Given the description of an element on the screen output the (x, y) to click on. 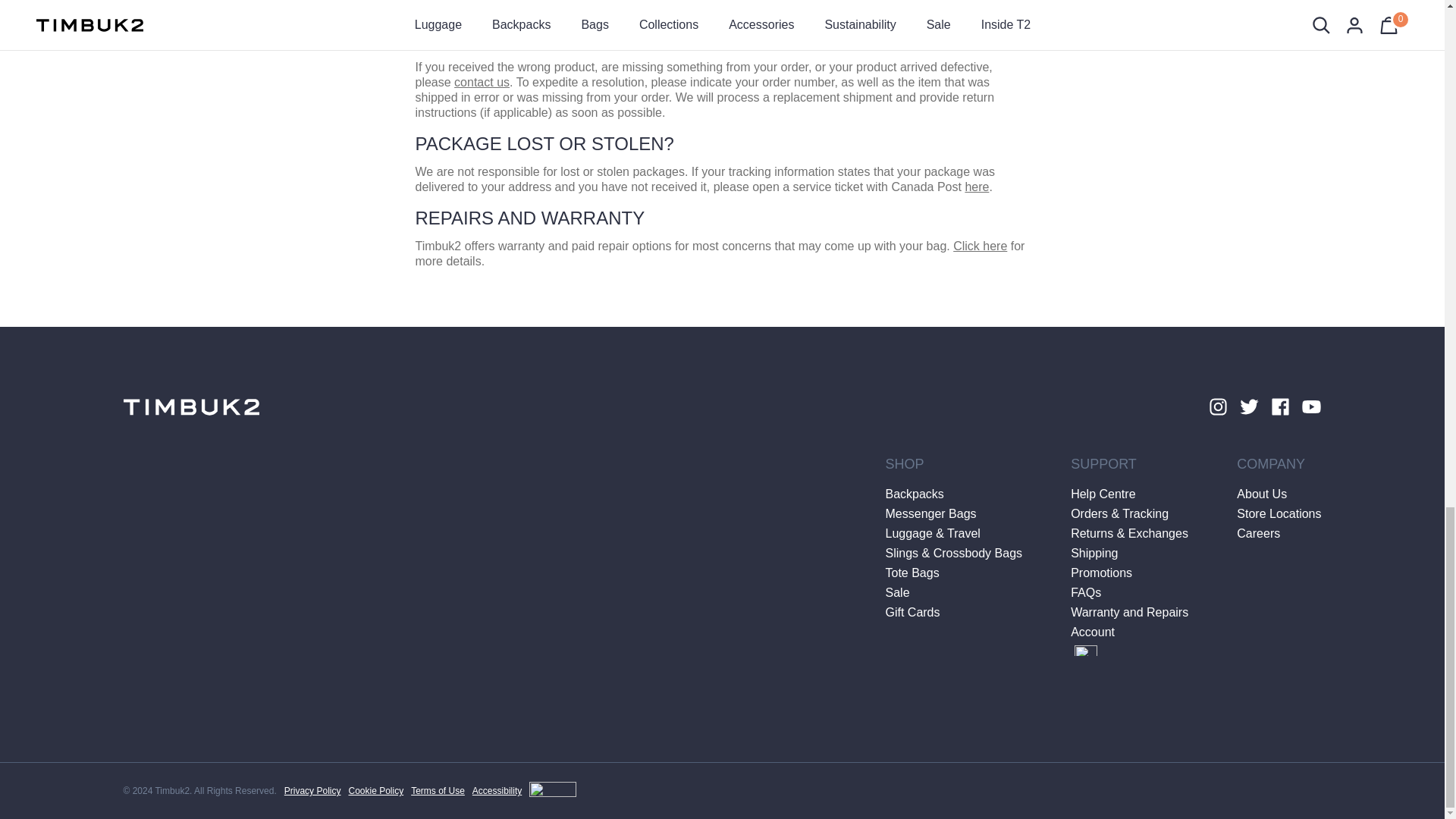
Timbuk2 Canada on Facebook (1279, 406)
Timbuk2 Canada on Twitter (1249, 406)
Timbuk2 Canada on Instagram (1217, 406)
Timbuk2 Canada on YouTube (1311, 406)
Accessibility (523, 791)
